Given the description of an element on the screen output the (x, y) to click on. 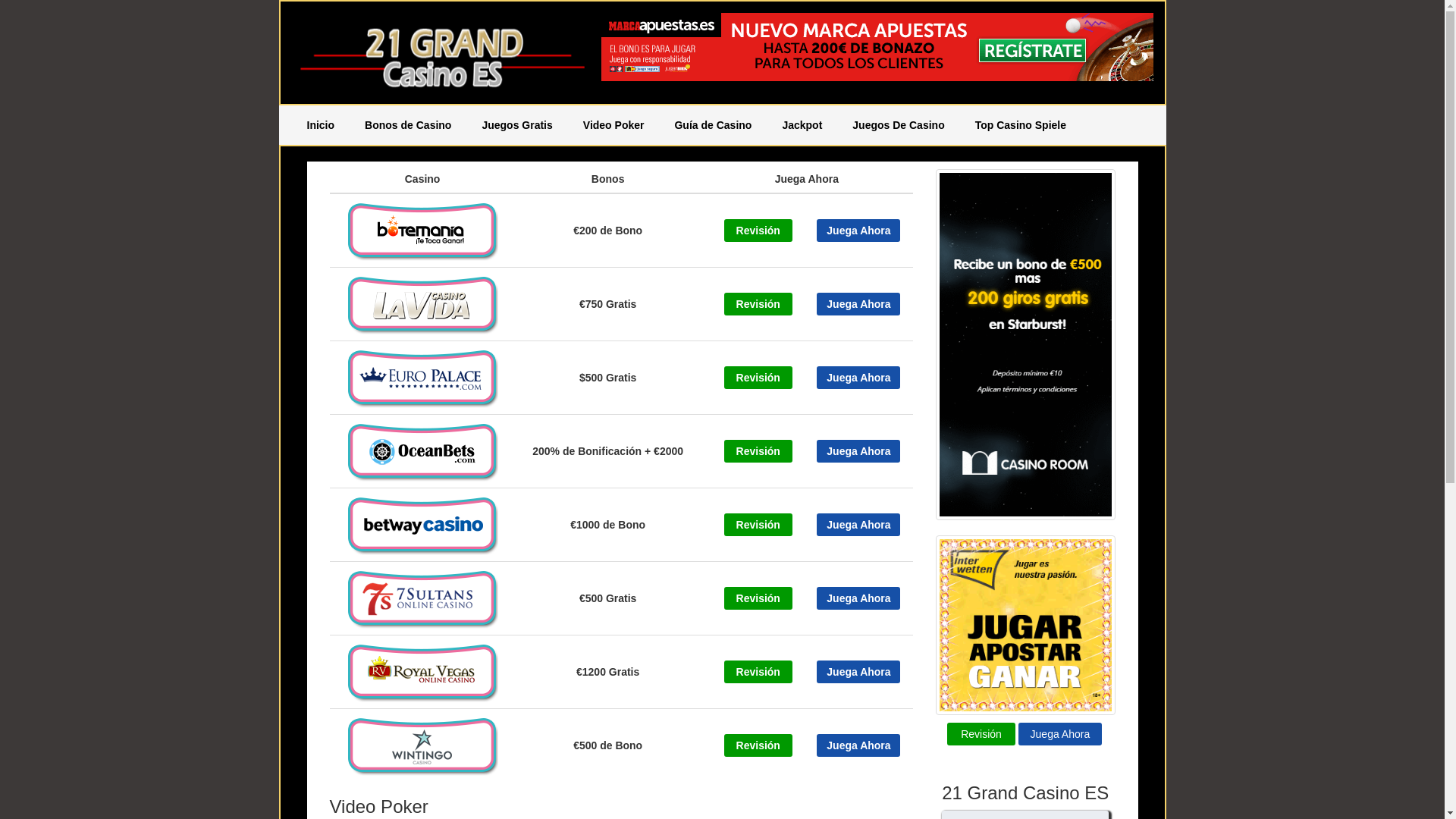
Jackpot Element type: text (801, 124)
Juegos De Casino Element type: text (898, 124)
Juega Ahora Element type: text (858, 598)
Juega Ahora Element type: text (858, 671)
Juega Ahora Element type: text (858, 303)
Juega Ahora Element type: text (858, 671)
Juega Ahora Element type: text (858, 745)
Video Poker Element type: text (613, 124)
Juega Ahora Element type: text (858, 597)
Juega Ahora Element type: text (1059, 734)
Juega Ahora Element type: text (858, 451)
Juega Ahora Element type: text (858, 524)
Juega Ahora Element type: text (1059, 732)
Juega Ahora Element type: text (858, 304)
Juega Ahora Element type: text (858, 450)
Inicio Element type: text (320, 124)
Juega Ahora Element type: text (858, 230)
Juega Ahora Element type: text (858, 745)
Juega Ahora Element type: text (858, 377)
Juega Ahora Element type: text (858, 230)
Bonos de Casino Element type: text (407, 124)
Juegos Gratis Element type: text (516, 124)
Juega Ahora Element type: text (858, 377)
Top Casino Spiele Element type: text (1020, 124)
Juega Ahora Element type: text (858, 524)
